Given the description of an element on the screen output the (x, y) to click on. 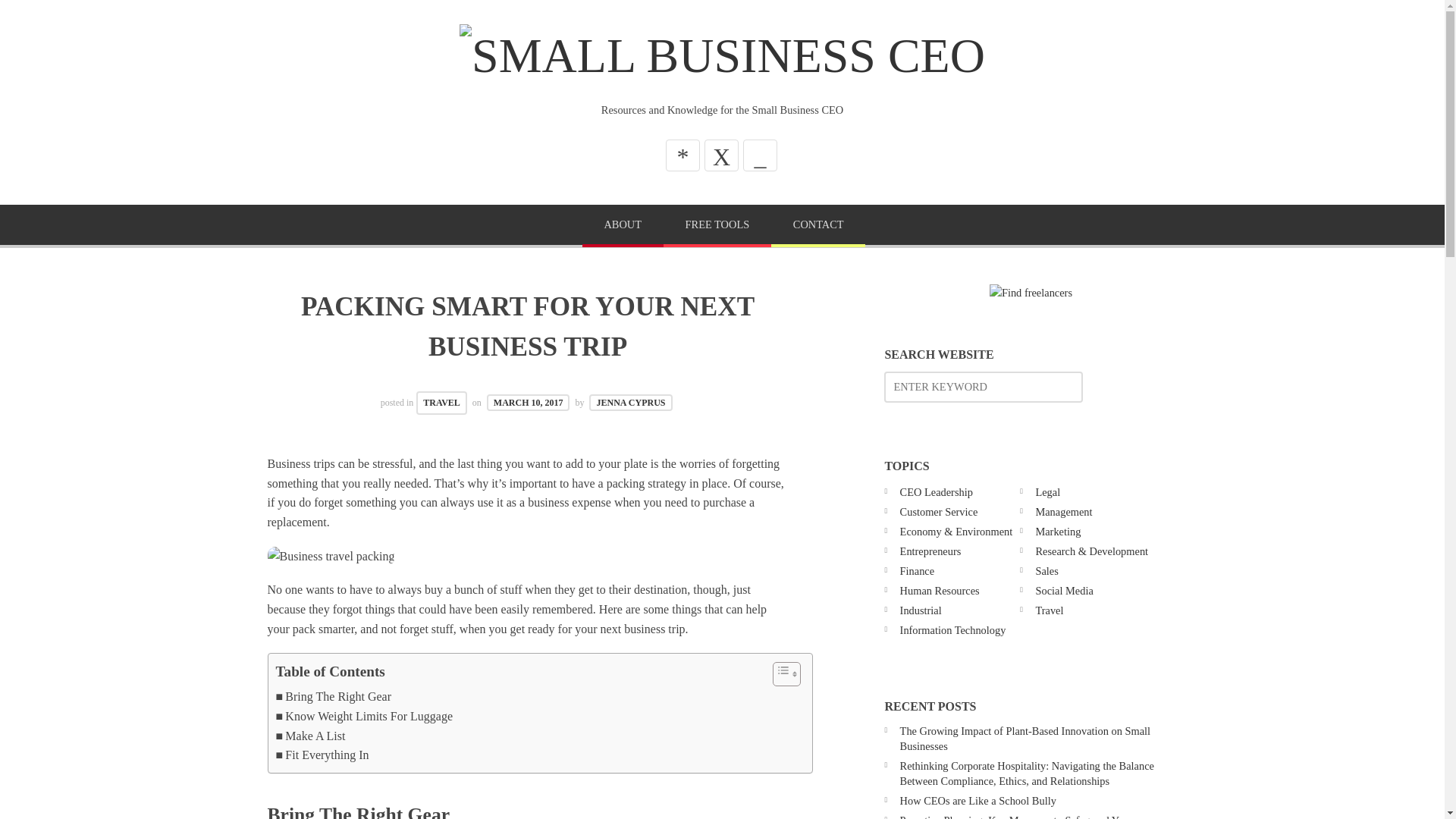
ABOUT (622, 225)
Make A List (311, 736)
FREE TOOLS (717, 225)
CEO Leadership (935, 491)
Fit Everything In (322, 754)
Customer Service (938, 511)
Bring The Right Gear (333, 696)
CONTACT (817, 225)
Know Weight Limits For Luggage (364, 716)
Bring The Right Gear (333, 696)
